Given the description of an element on the screen output the (x, y) to click on. 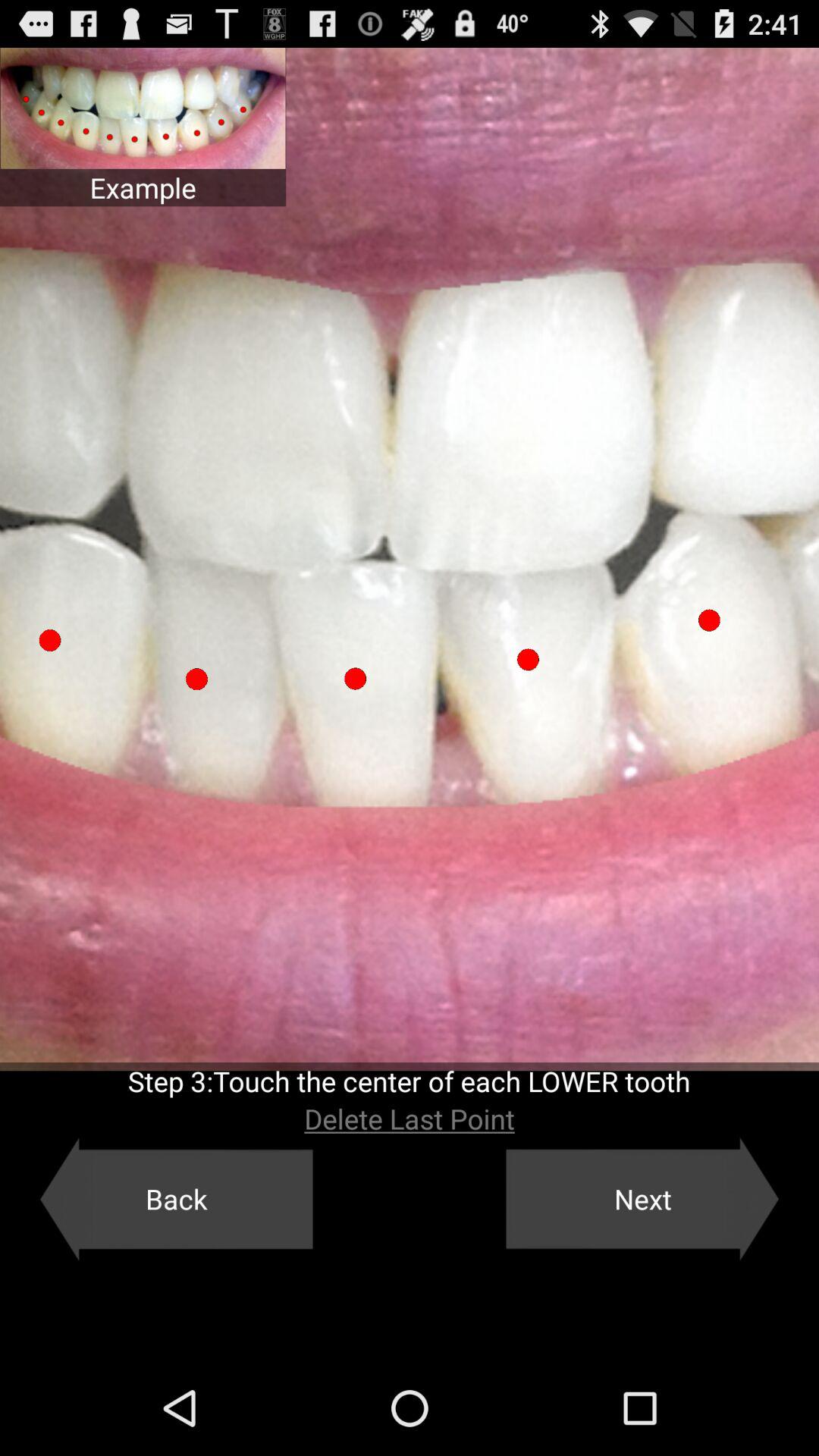
launch the delete last point item (409, 1118)
